Given the description of an element on the screen output the (x, y) to click on. 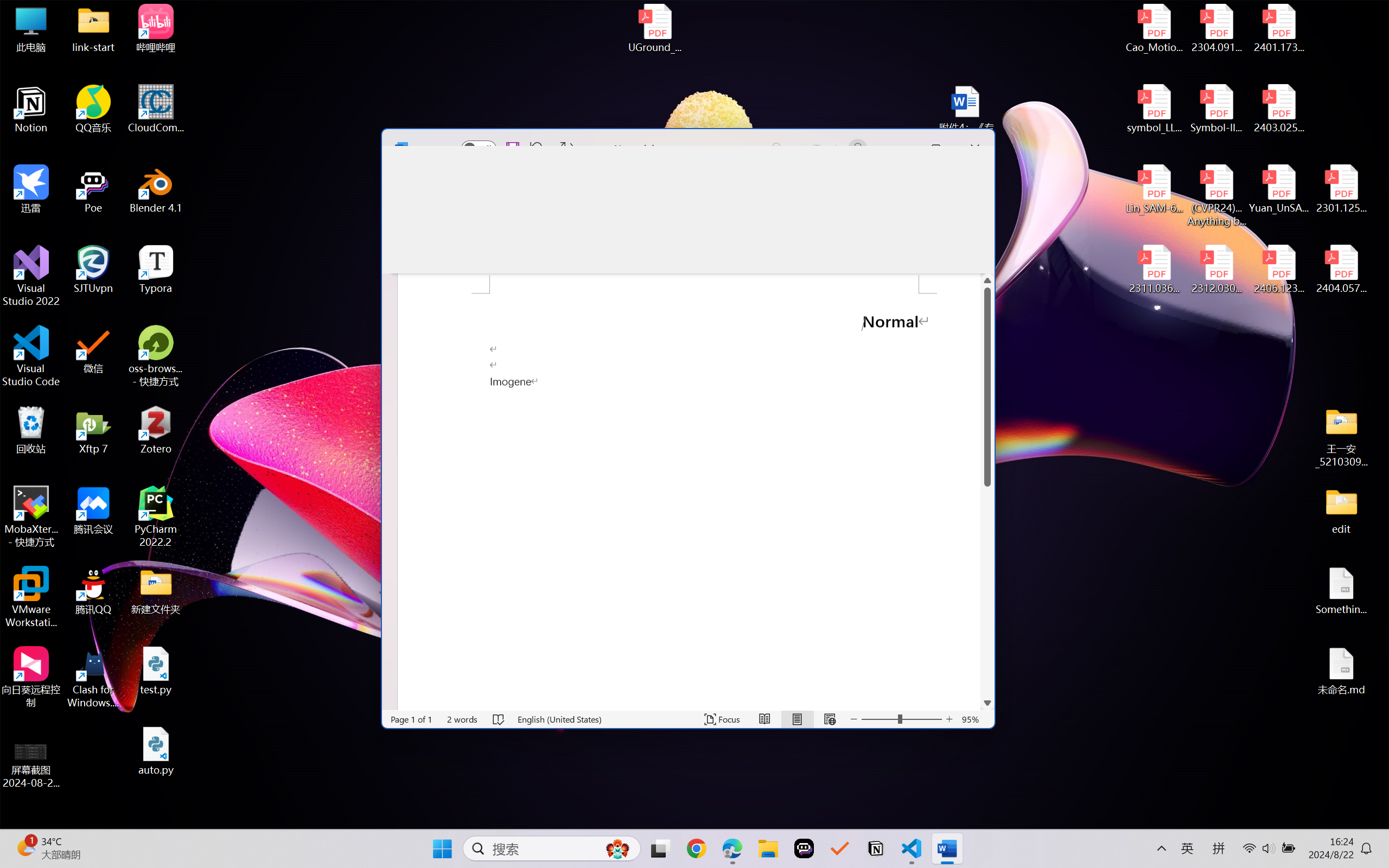
Undo Paragraph Formatting (534, 148)
Editing (947, 180)
Zoom 95% (970, 719)
Pen: Galaxy, 1 mm (612, 223)
Page Number Page 1 of 1 (411, 719)
symbol_LLM.pdf (1154, 109)
Class: MsoCommandBar (687, 201)
edit (1340, 510)
Notion (31, 109)
